Given the description of an element on the screen output the (x, y) to click on. 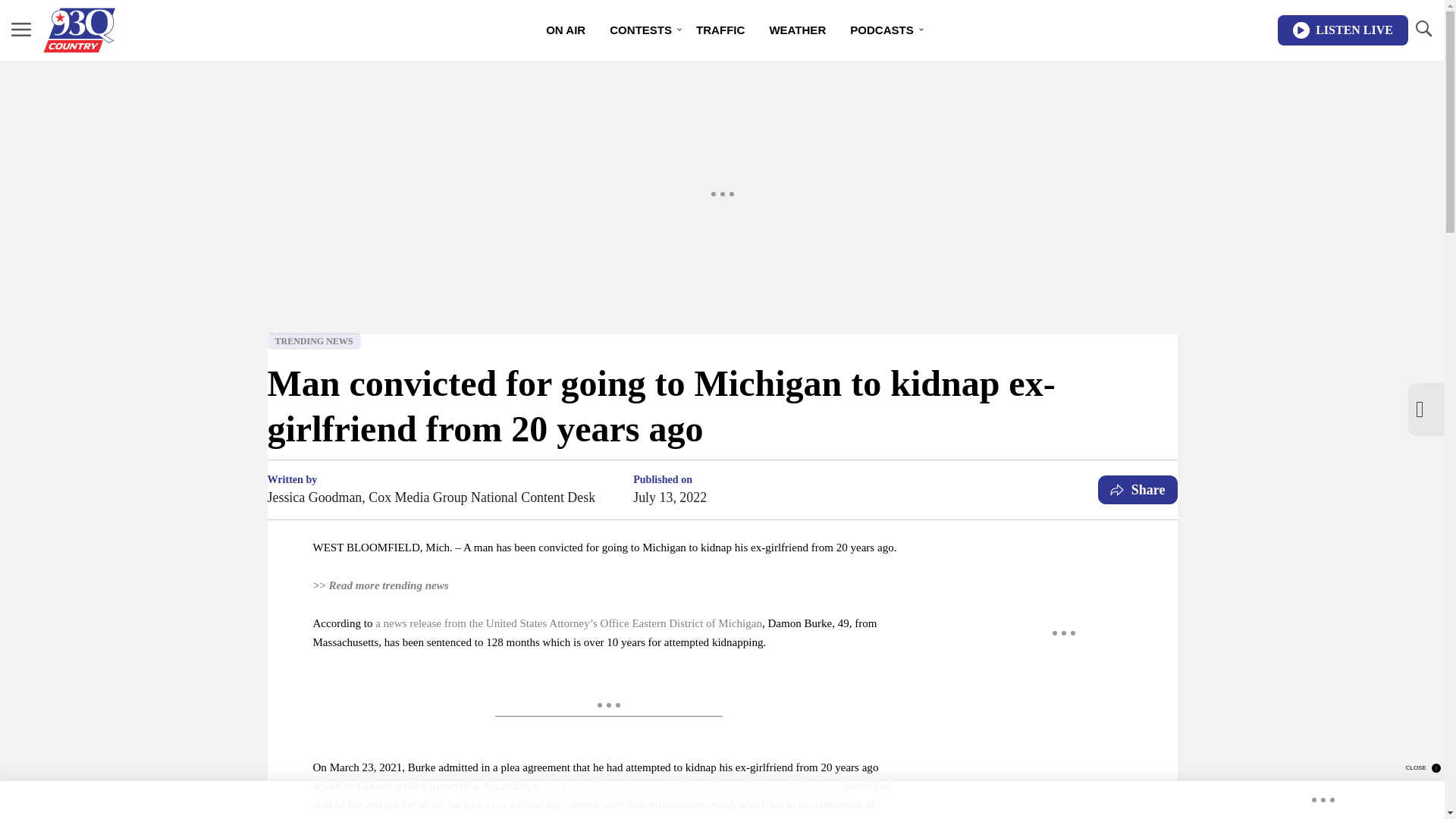
TRENDING NEWS (312, 340)
TRAFFIC (720, 30)
PODCASTS (882, 30)
MENU (20, 29)
MENU (20, 30)
the (551, 785)
WEATHER (797, 30)
ON AIR (565, 30)
TOGGLE SEARCH (1422, 28)
CONTESTS (640, 30)
